Given the description of an element on the screen output the (x, y) to click on. 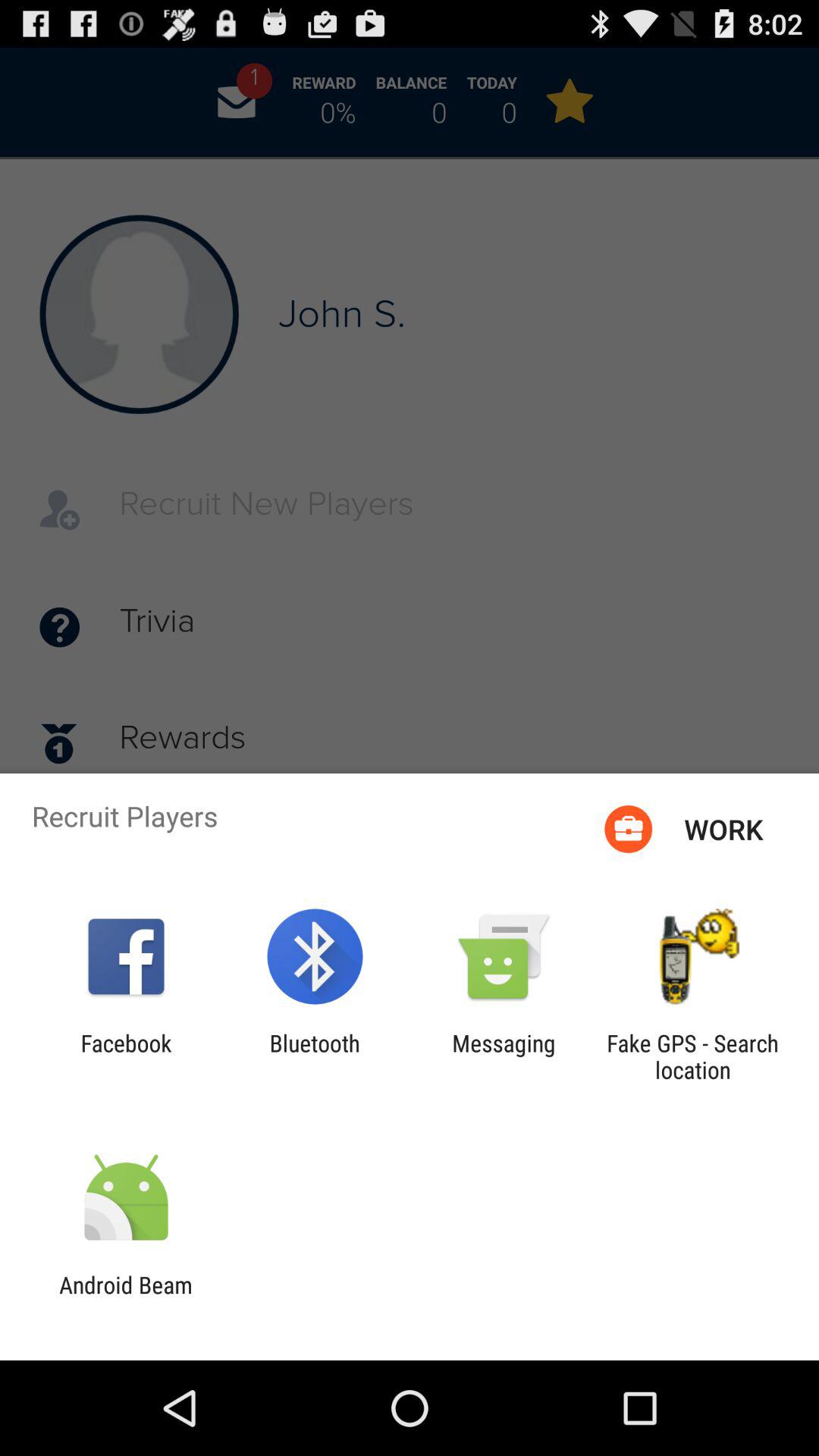
press item next to messaging icon (314, 1056)
